Given the description of an element on the screen output the (x, y) to click on. 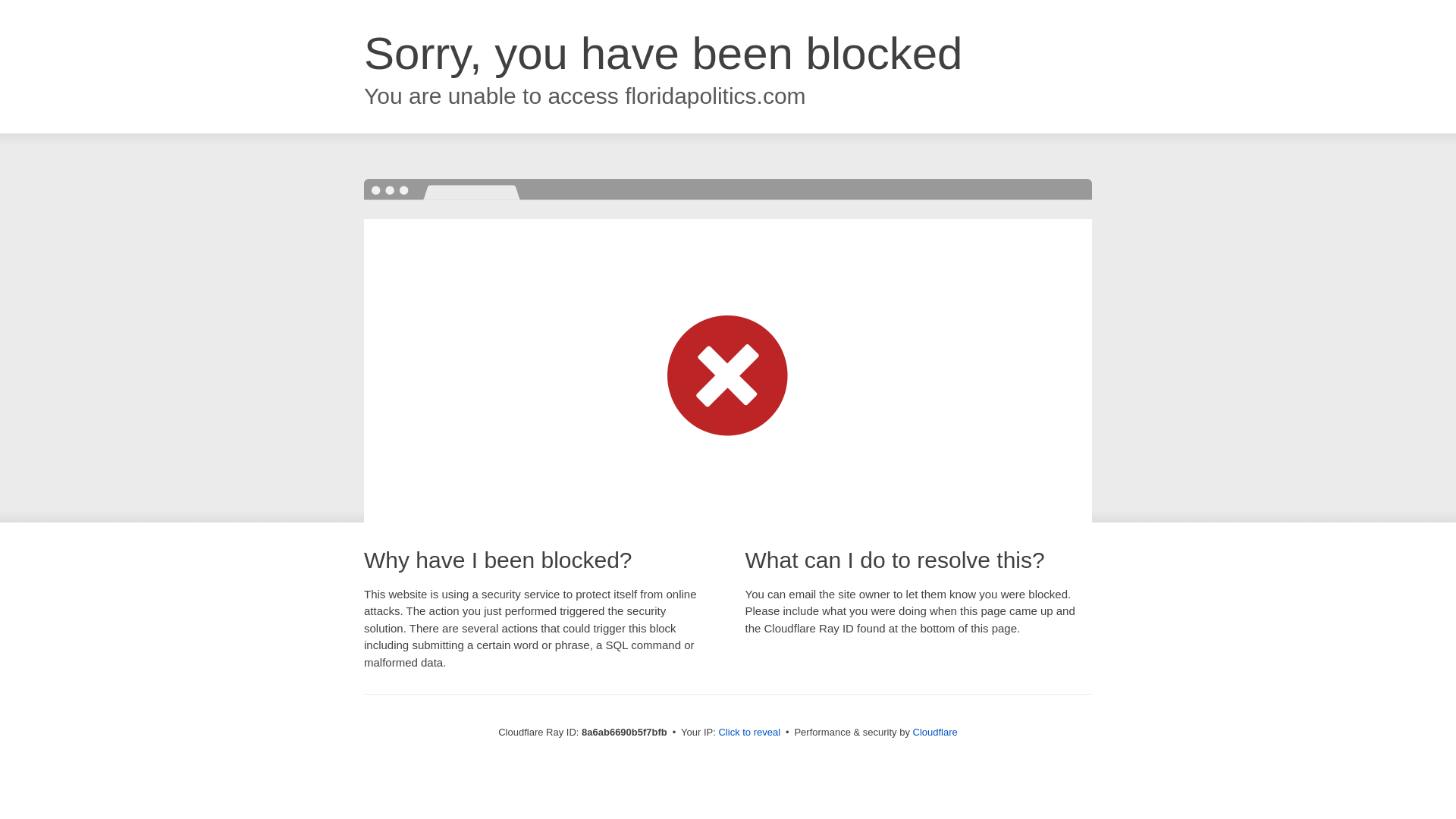
Cloudflare (935, 731)
Click to reveal (748, 732)
